Given the description of an element on the screen output the (x, y) to click on. 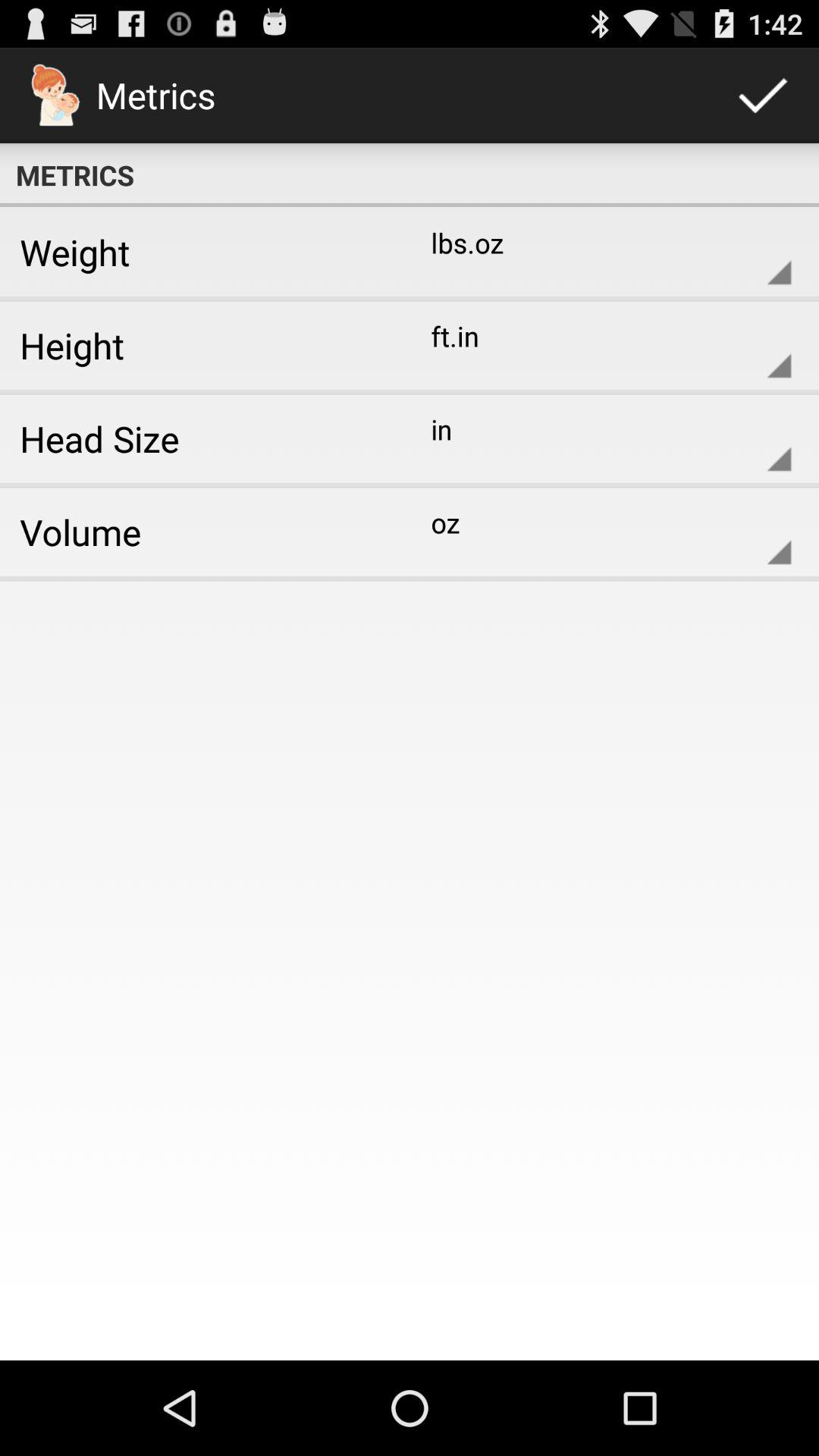
select the icon on the left (199, 531)
